Given the description of an element on the screen output the (x, y) to click on. 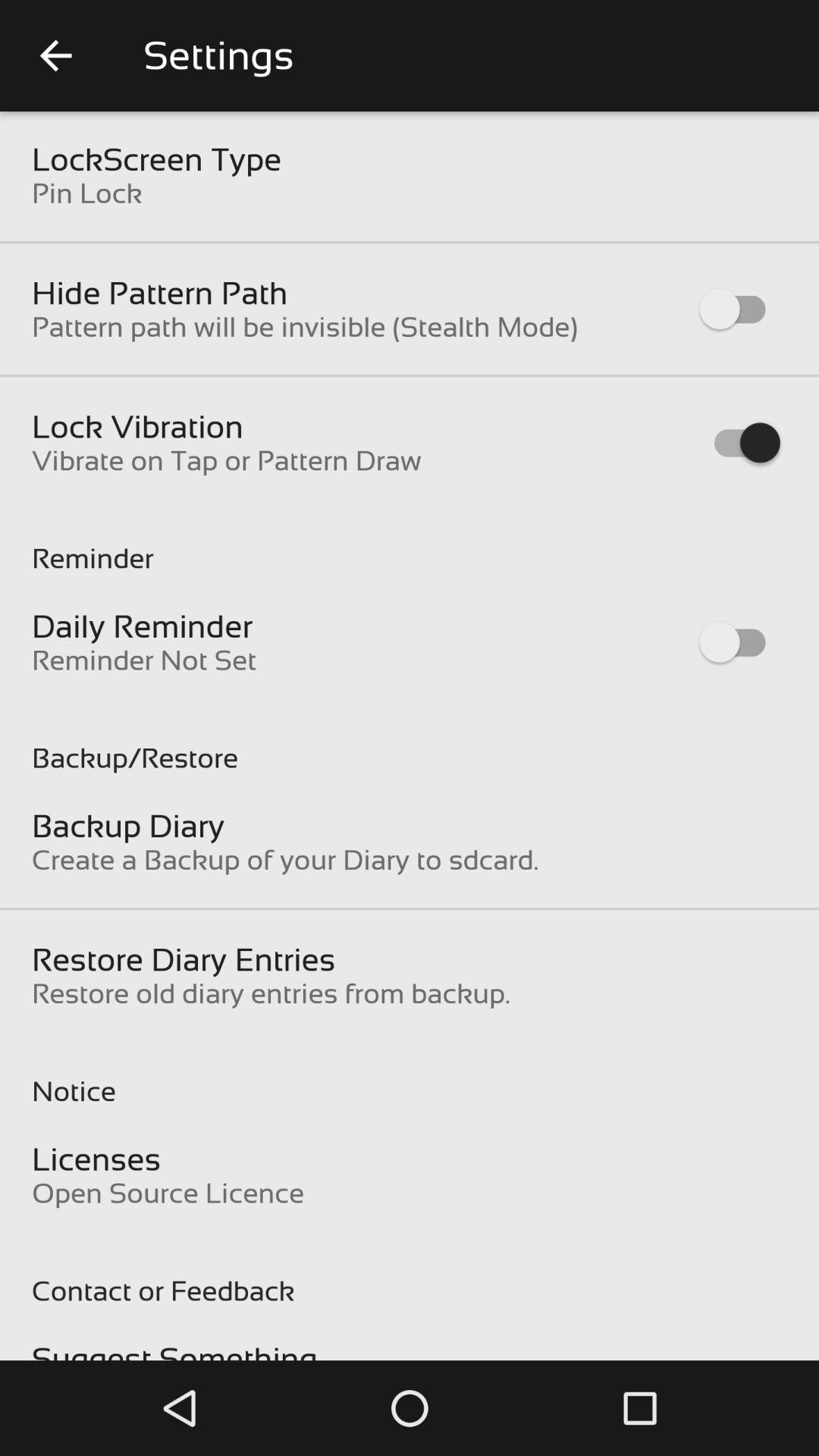
turn off the icon above the hide pattern path (86, 193)
